Given the description of an element on the screen output the (x, y) to click on. 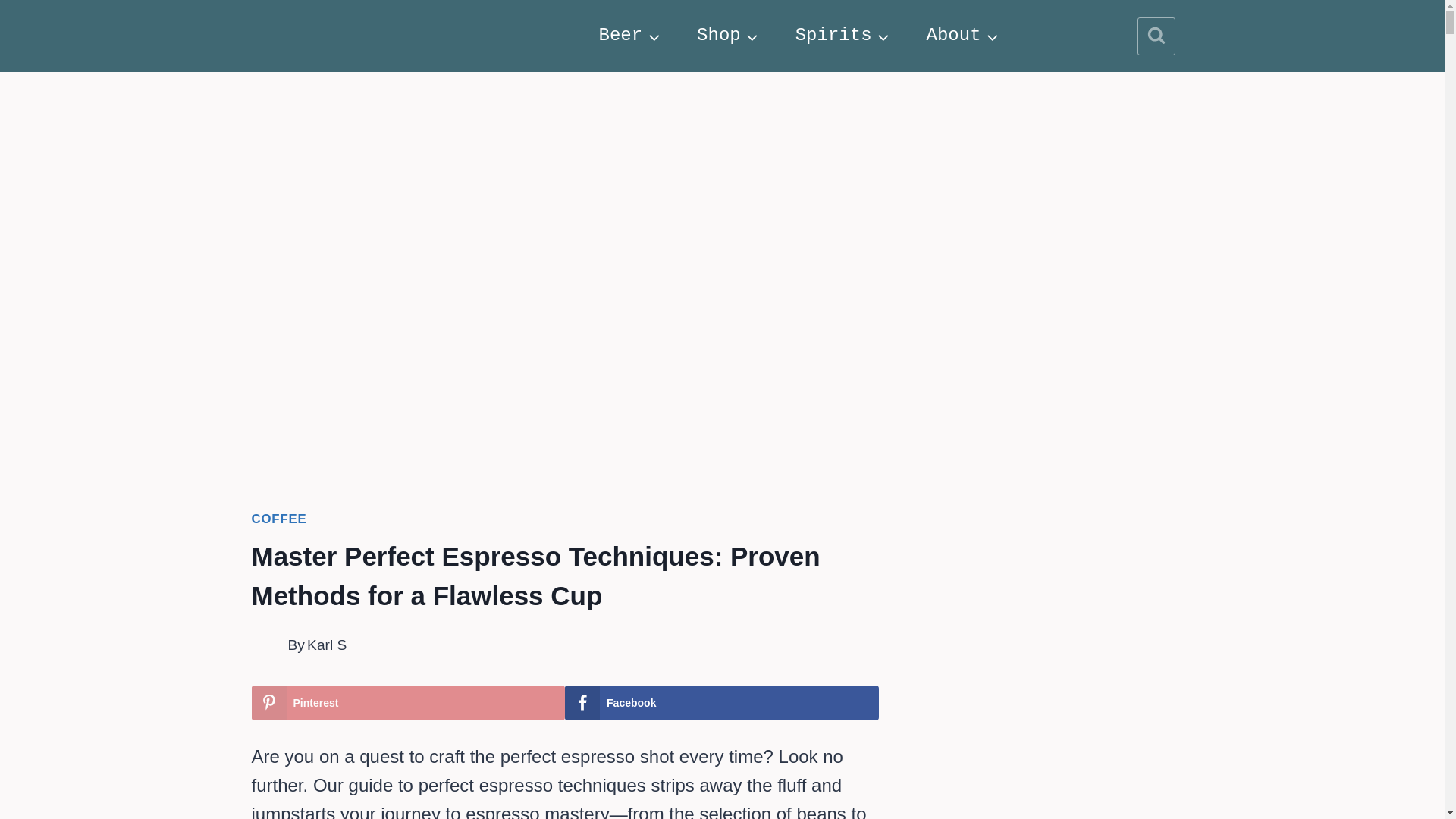
Beer (629, 35)
Shop (727, 35)
Facebook (721, 702)
About (962, 35)
Pinterest (408, 702)
Save to Pinterest (408, 702)
Spirits (842, 35)
COFFEE (279, 518)
Share on Facebook (721, 702)
